Given the description of an element on the screen output the (x, y) to click on. 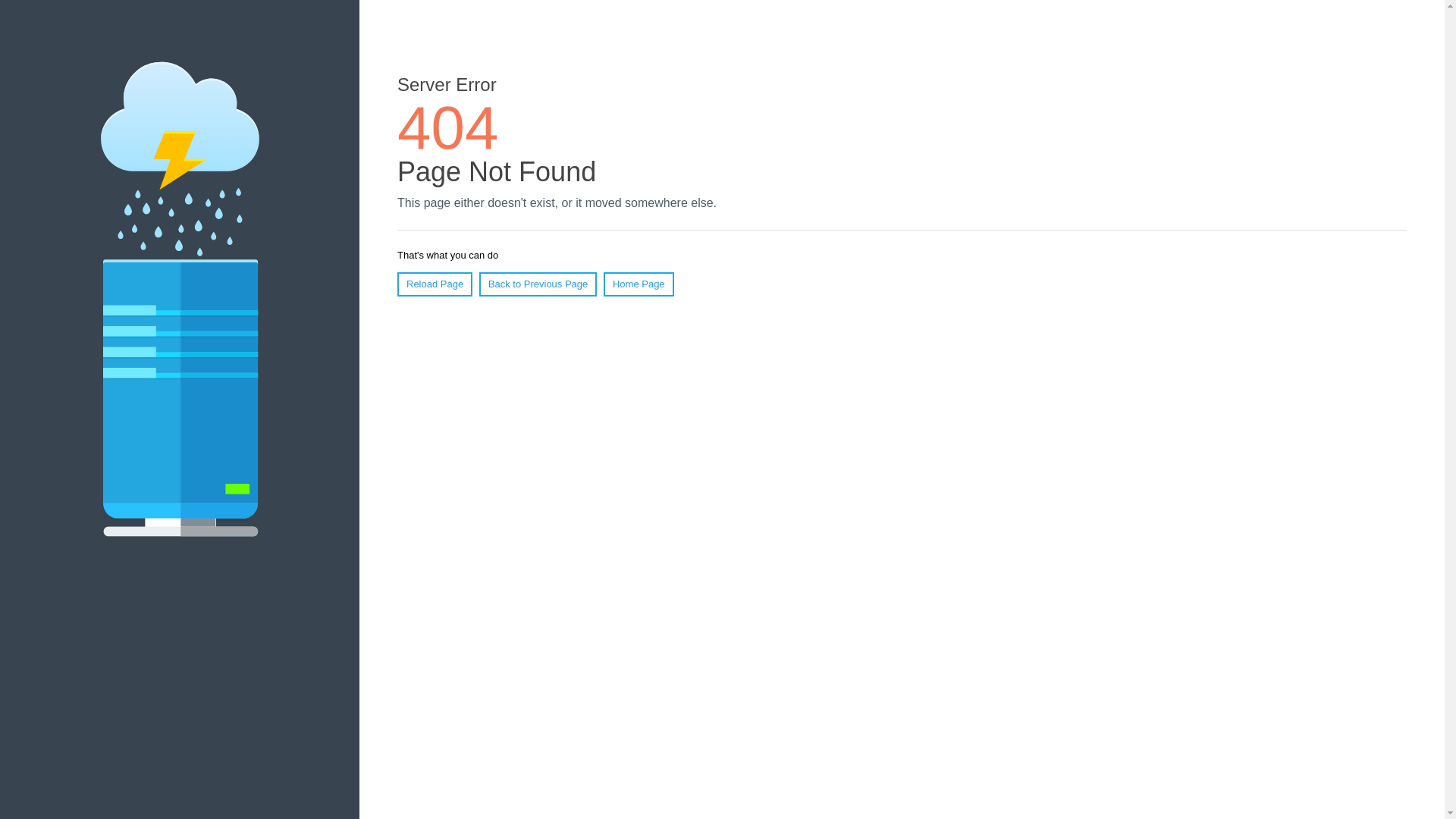
Home Page Element type: text (638, 284)
Reload Page Element type: text (434, 284)
Back to Previous Page Element type: text (538, 284)
